Given the description of an element on the screen output the (x, y) to click on. 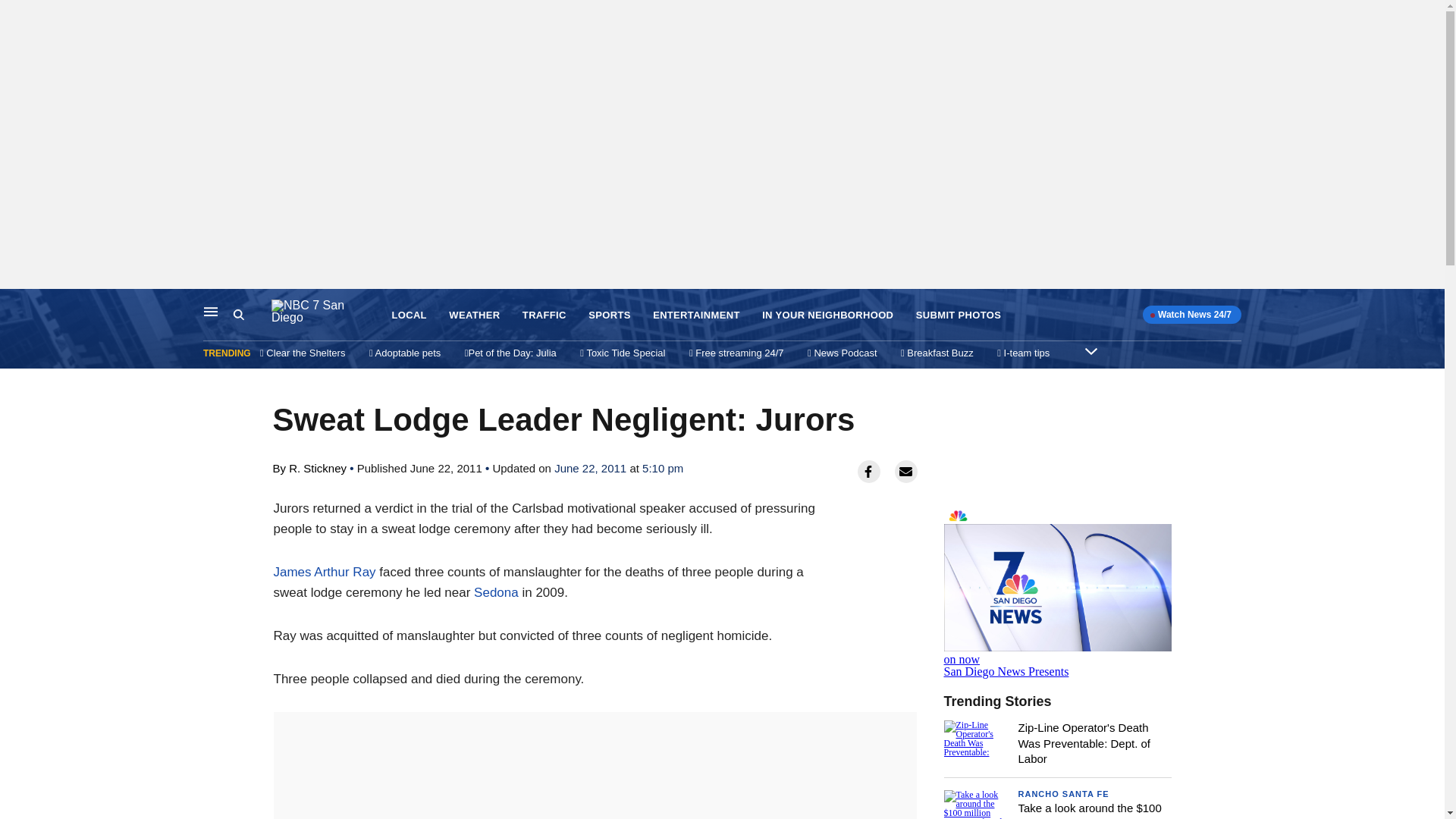
SUBMIT PHOTOS (958, 315)
RANCHO SANTA FE (1062, 793)
James Arthur Ray (324, 572)
Skip to content (16, 304)
TRAFFIC (544, 315)
SPORTS (609, 315)
IN YOUR NEIGHBORHOOD (827, 315)
Search (252, 314)
Main Navigation (210, 311)
LOCAL (408, 315)
